Given the description of an element on the screen output the (x, y) to click on. 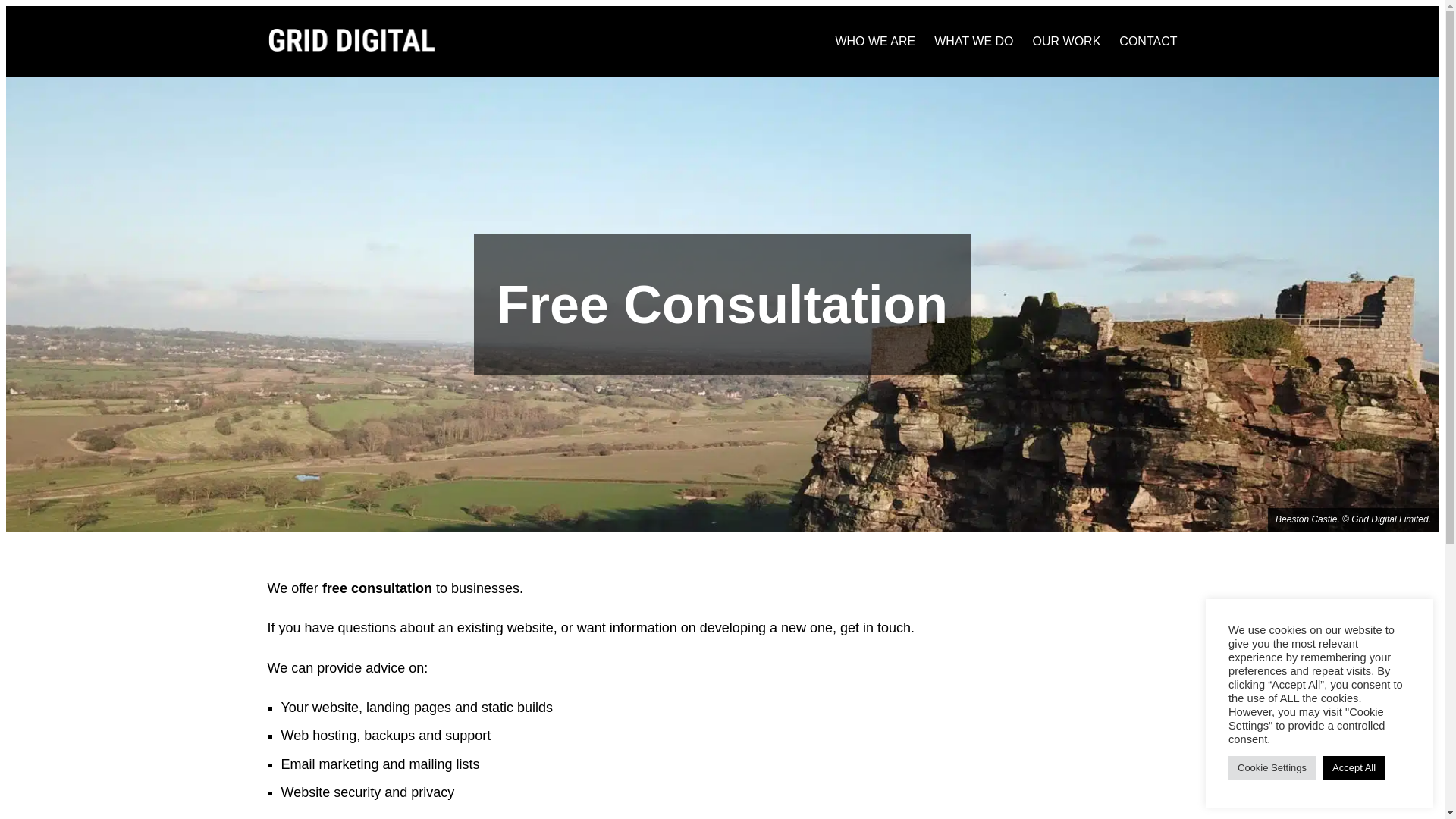
Grid Digital (349, 39)
WHO WE ARE (874, 42)
CONTACT (1147, 42)
Accept All (1353, 767)
Cookie Settings (1272, 767)
OUR WORK (1066, 42)
WHAT WE DO (973, 42)
